Given the description of an element on the screen output the (x, y) to click on. 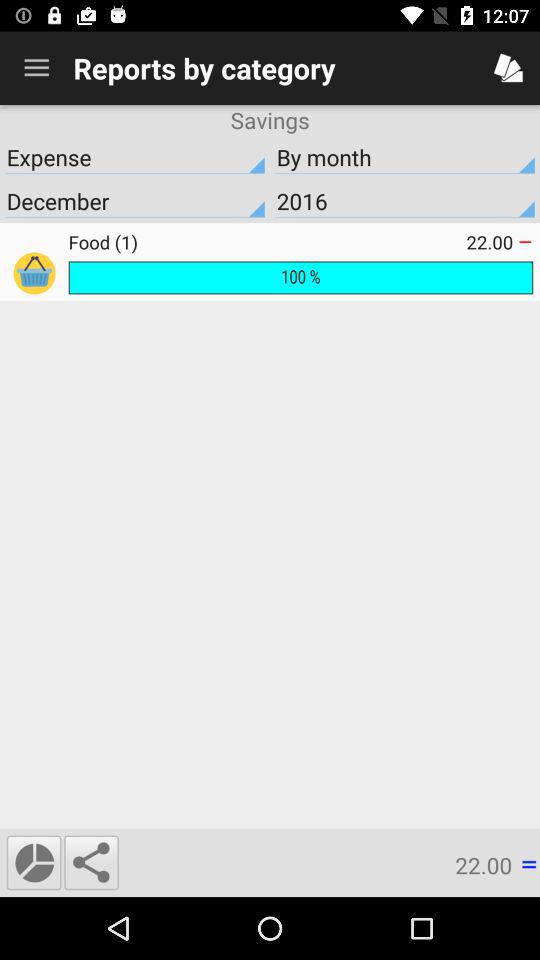
turn on the icon above savings (36, 68)
